Given the description of an element on the screen output the (x, y) to click on. 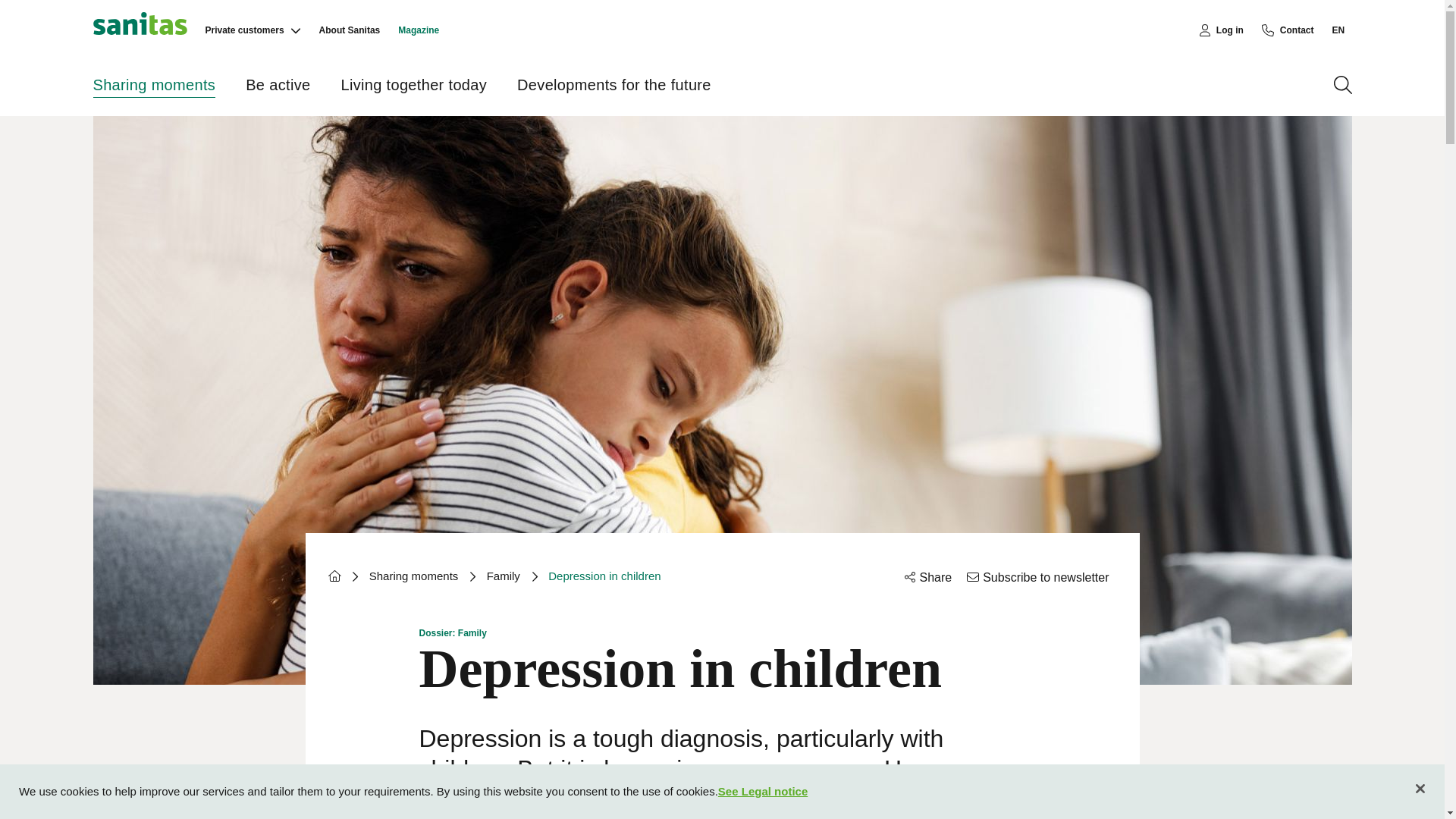
Be active (278, 84)
Magazine (333, 575)
Sharing moments (154, 84)
Private customers (244, 29)
Family (502, 576)
Contact (1288, 29)
Sharing moments (413, 576)
About Sanitas (349, 29)
Developments for the future (613, 84)
Magazine (418, 29)
